Given the description of an element on the screen output the (x, y) to click on. 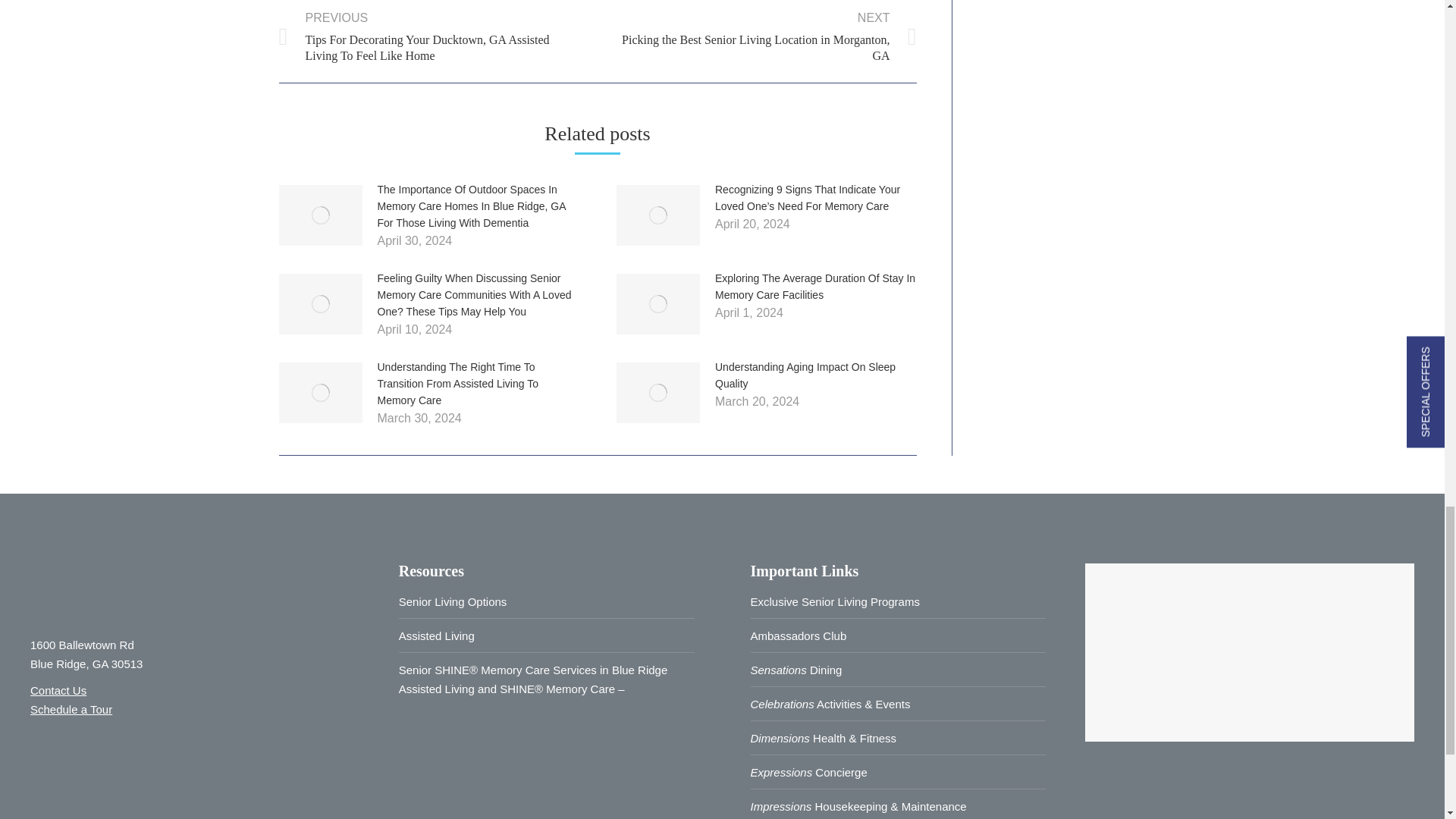
Equal-Housing-Opportunity-logo22-150x144-1 (150, 776)
Equal-Housing-Opportunity-logo222 (63, 775)
terabelafooter-logo (124, 586)
